Given the description of an element on the screen output the (x, y) to click on. 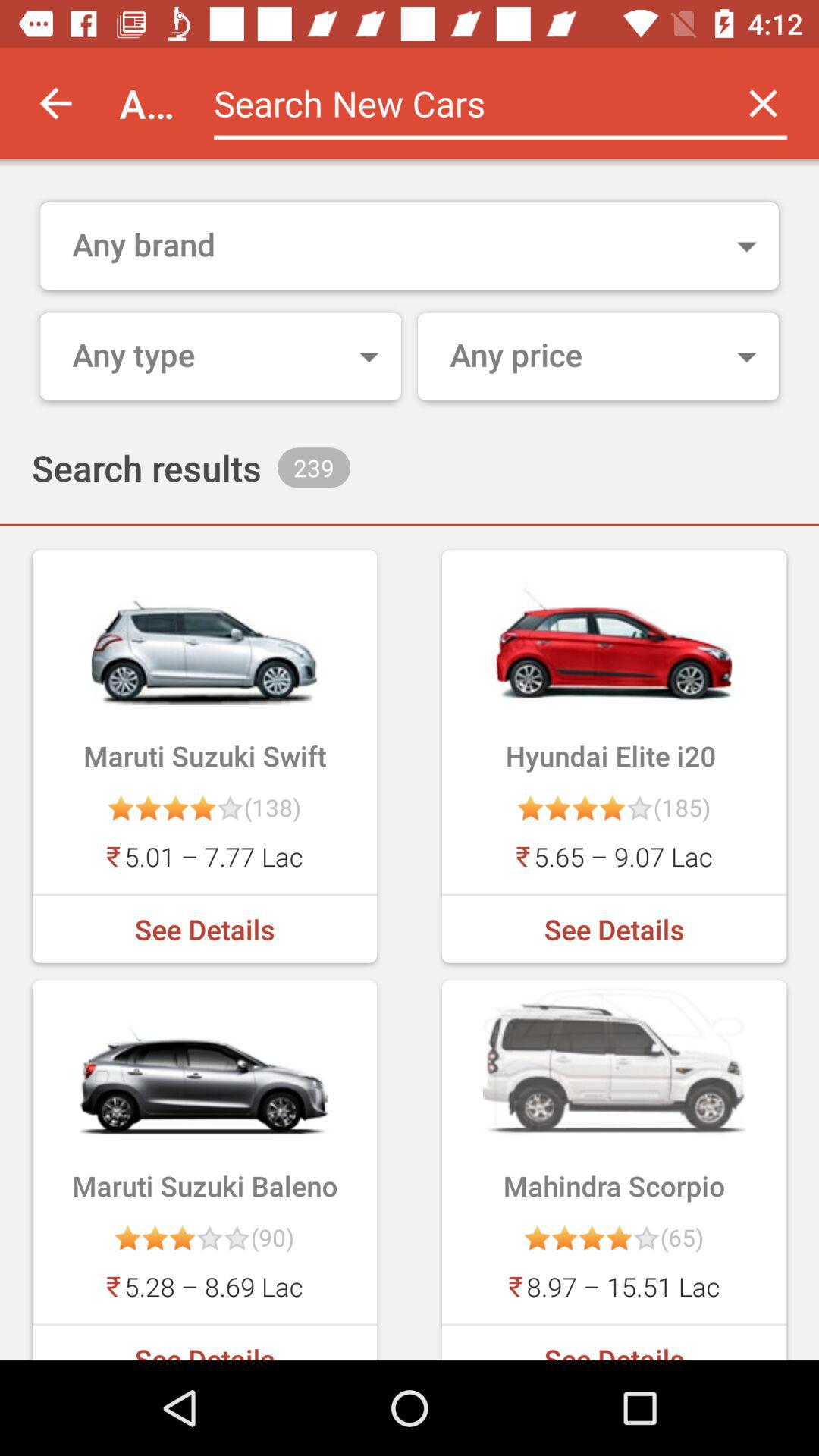
search new cars (460, 103)
